Given the description of an element on the screen output the (x, y) to click on. 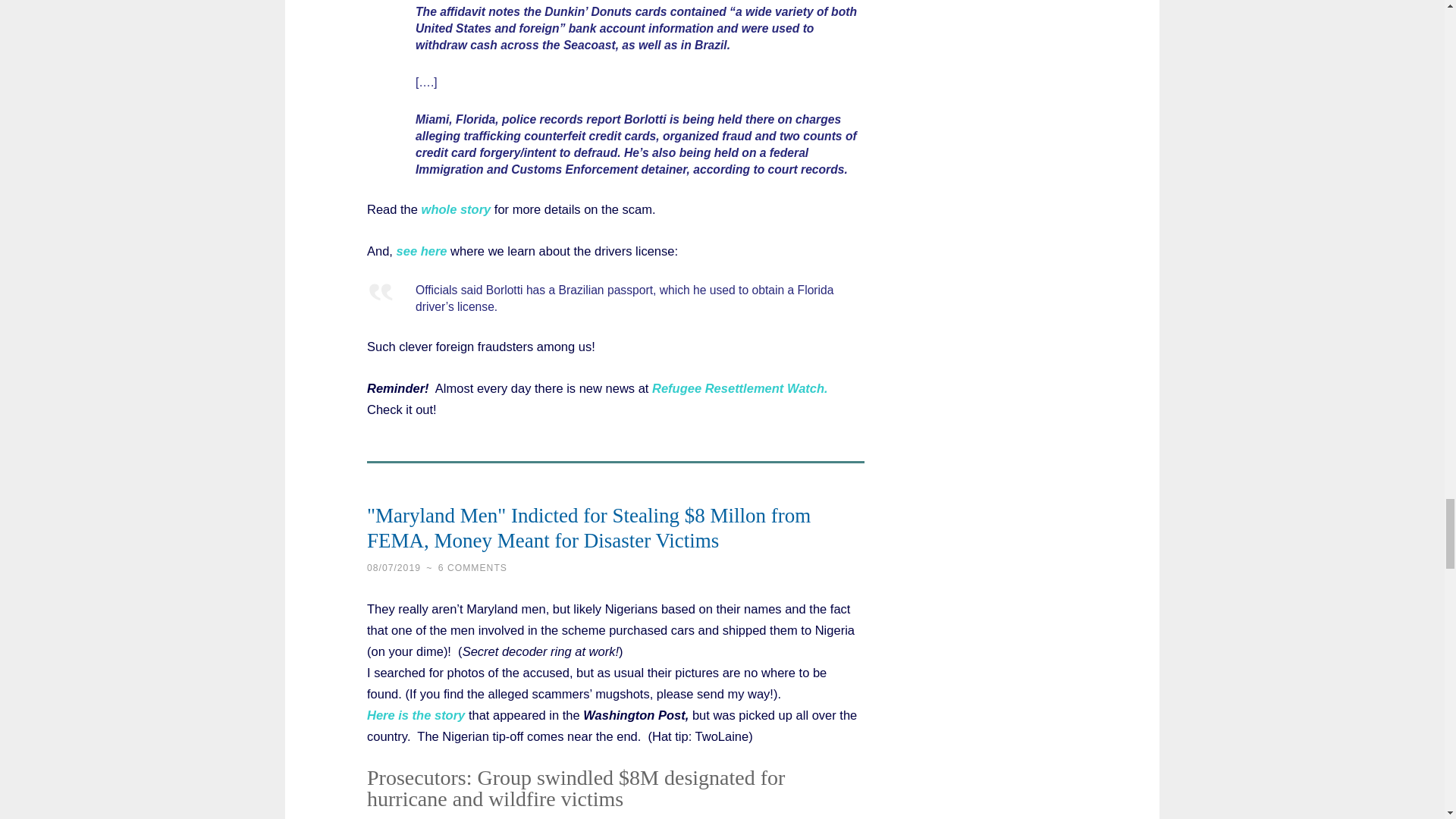
Here is the story (415, 714)
whole story (457, 209)
see here (421, 250)
Refugee Resettlement Watch. (740, 387)
6 COMMENTS (472, 567)
